Given the description of an element on the screen output the (x, y) to click on. 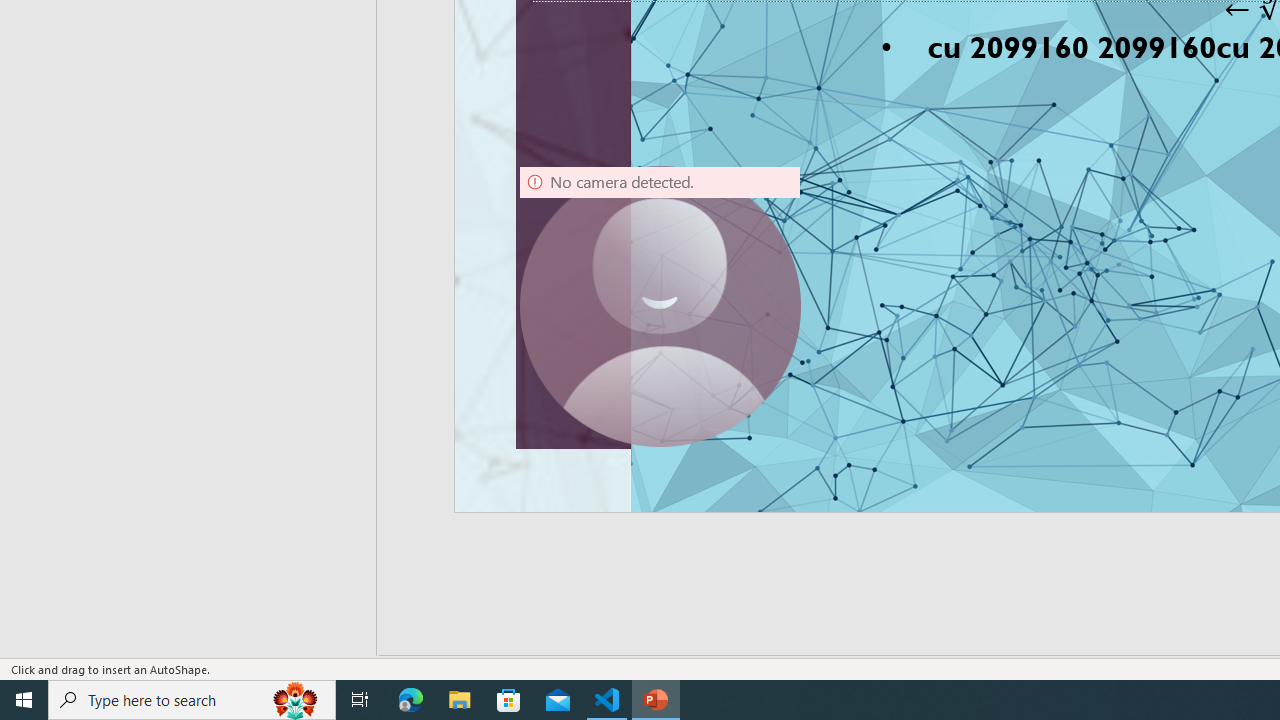
Accounts - Sign in requested (135, 493)
Reload (1071, 174)
